Given the description of an element on the screen output the (x, y) to click on. 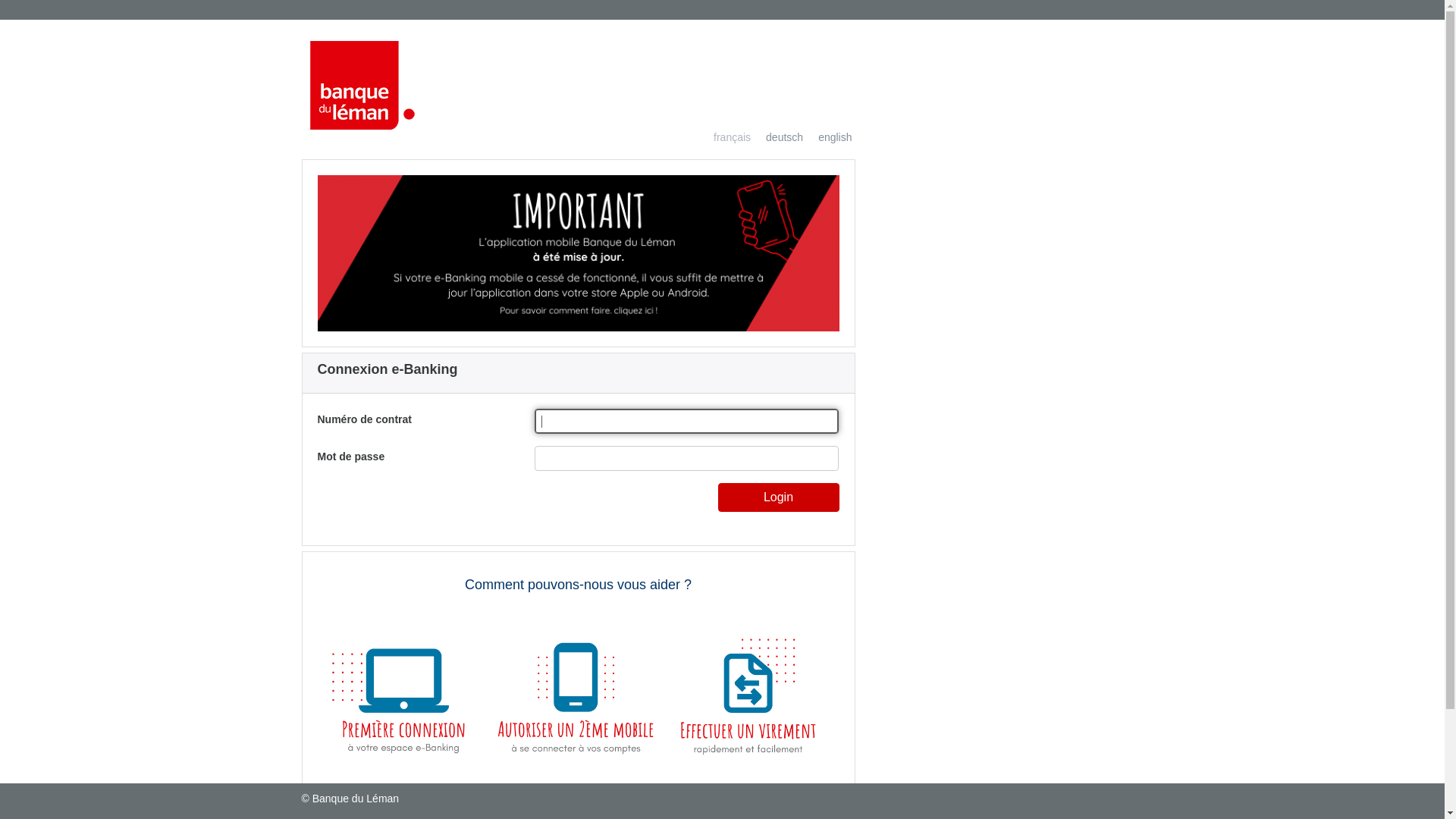
deutsch Element type: text (776, 137)
english Element type: text (827, 137)
Login Element type: text (777, 497)
